Given the description of an element on the screen output the (x, y) to click on. 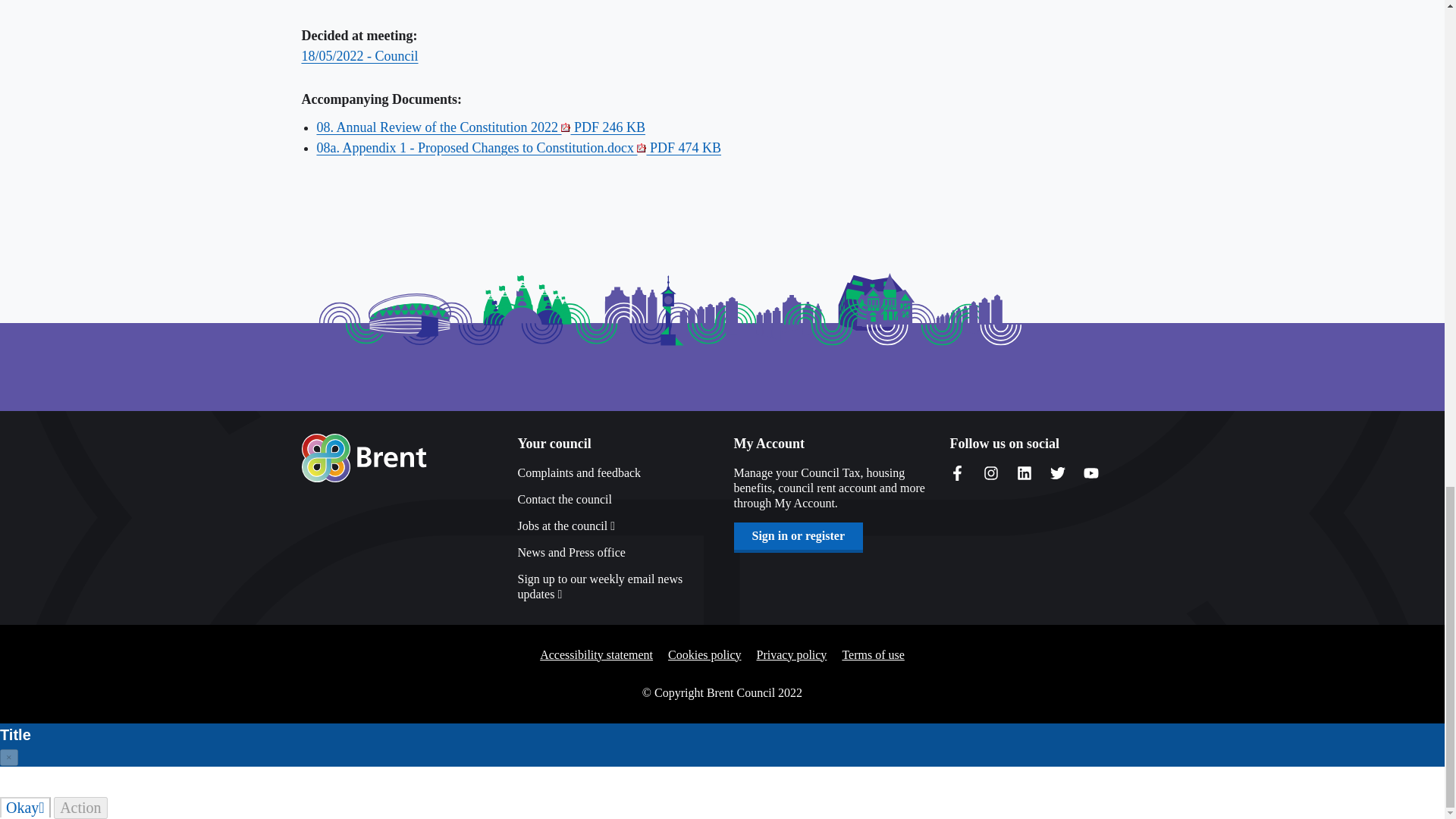
News and Press office (613, 552)
Accessibility statement (596, 654)
Complaints and feedback (613, 473)
08. Annual Review of the Constitution 2022 PDF 246 KB (481, 127)
Brent homepage (363, 458)
Terms of use (872, 654)
Jobs at the council (613, 525)
Privacy policy (792, 654)
Brent council's YouTube channel (1090, 473)
Cookies policy (704, 654)
Contact the council (613, 499)
Brent council's Twitter feed (1056, 473)
Sign in or register (798, 535)
